Given the description of an element on the screen output the (x, y) to click on. 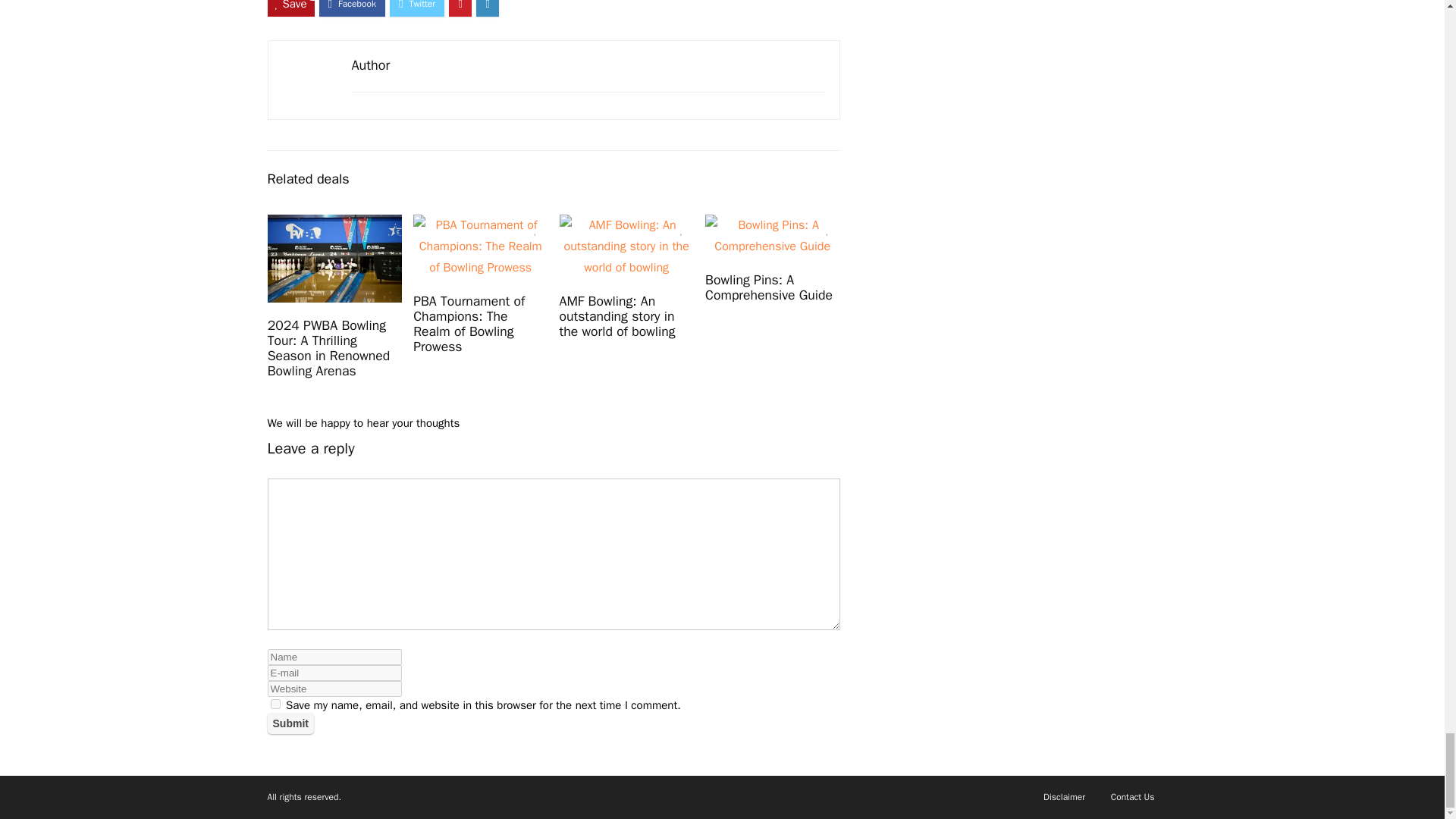
yes (274, 704)
PBA Tournament of Champions: The Realm of Bowling Prowess (468, 323)
Submit (289, 722)
Author (371, 64)
